Given the description of an element on the screen output the (x, y) to click on. 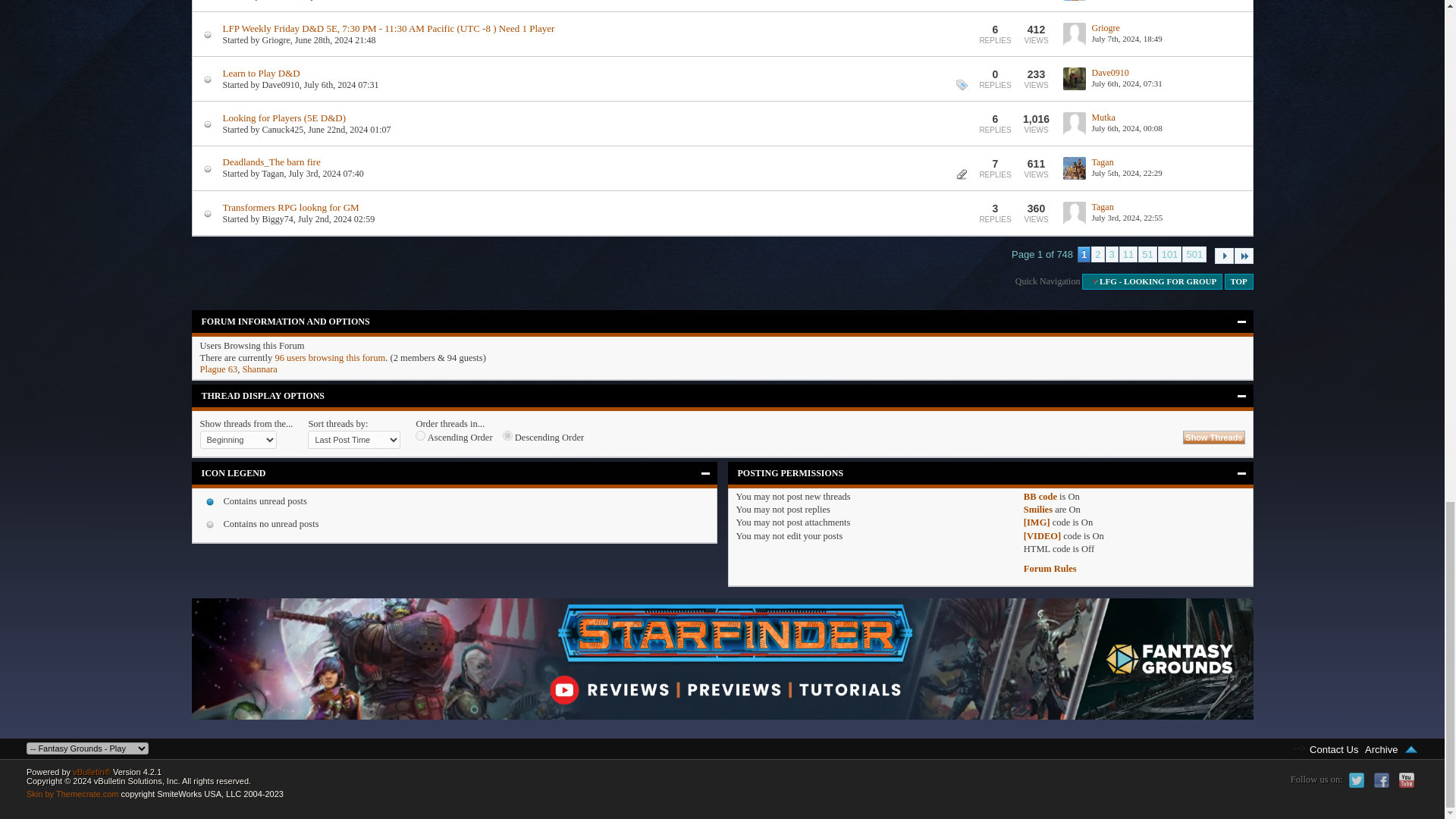
Show Threads (1213, 437)
desc (507, 435)
asc (419, 435)
